Given the description of an element on the screen output the (x, y) to click on. 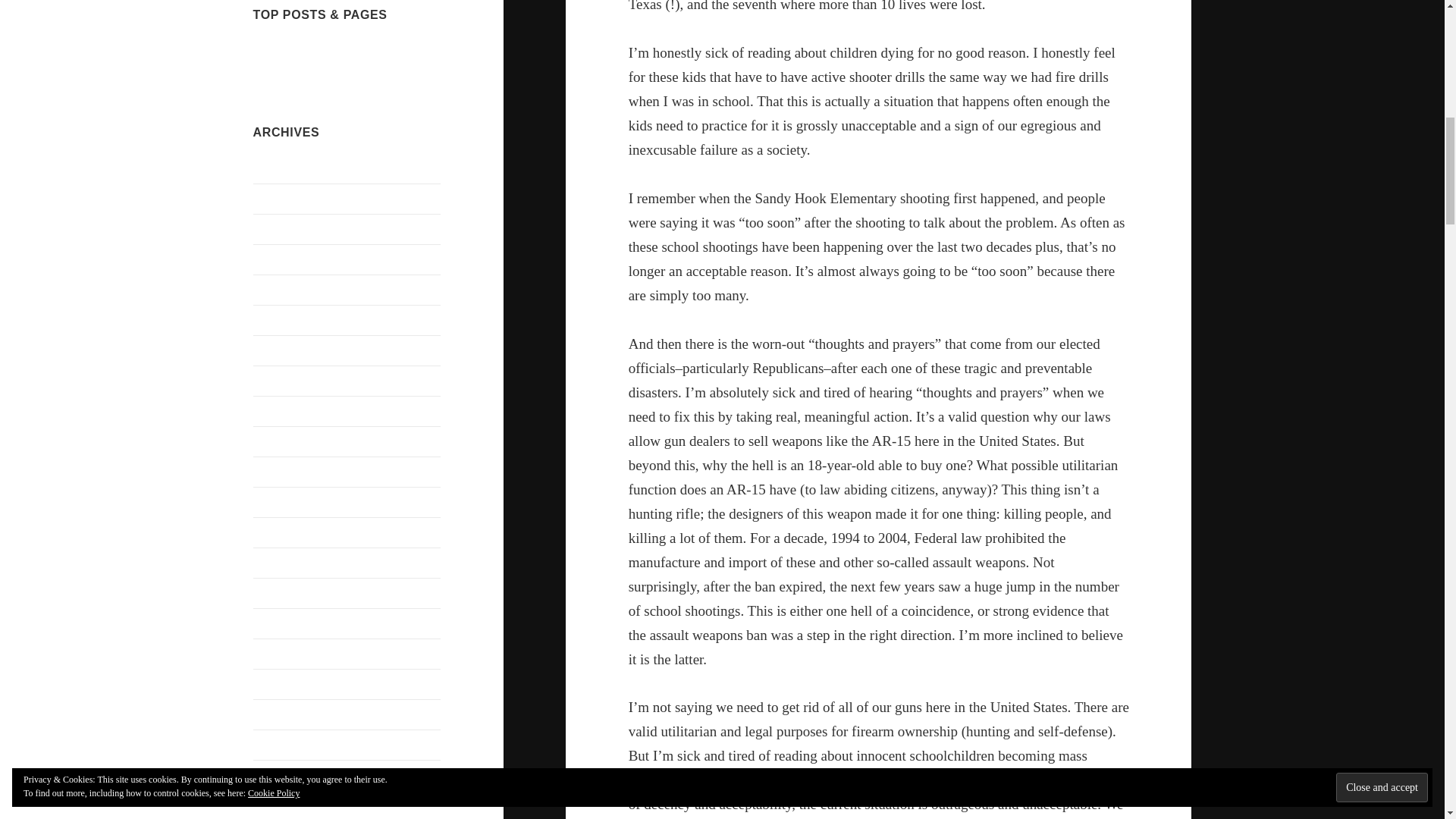
April 2023 (279, 440)
January 2022 (285, 775)
March 2023 (283, 472)
February 2023 (288, 502)
November 2022 (292, 593)
May 2022 (277, 684)
December 2021 (291, 805)
July 2024 (277, 168)
June 2023 (277, 380)
March 2024 (283, 259)
January 2023 (285, 532)
June 2022 (277, 653)
August 2023 (284, 350)
December 2023 (291, 319)
May 2024 (277, 198)
